Given the description of an element on the screen output the (x, y) to click on. 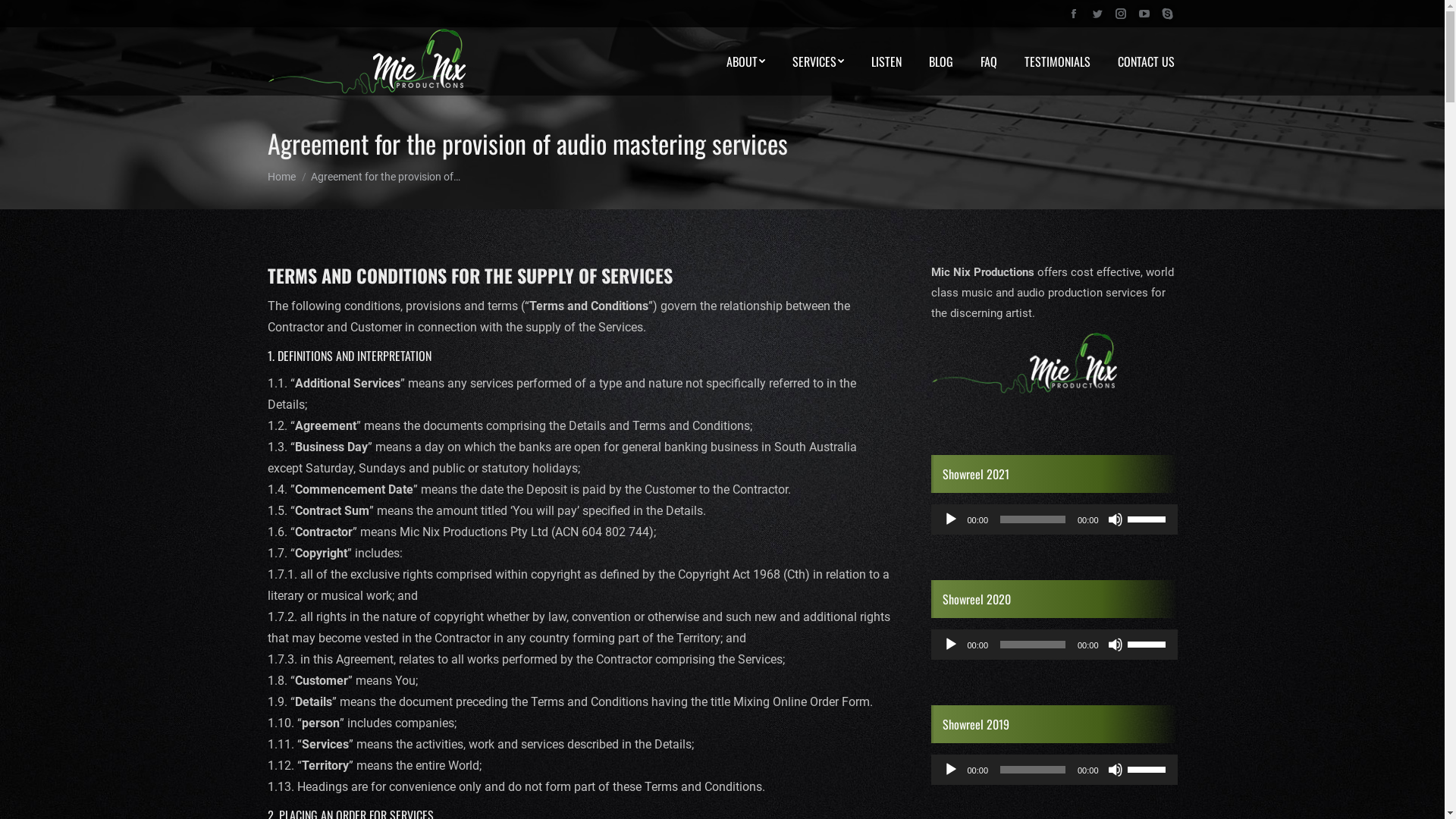
Facebook page opens in new window Element type: text (1072, 13)
YouTube page opens in new window Element type: text (1144, 13)
Mute Element type: hover (1114, 644)
Play Element type: hover (950, 769)
TESTIMONIALS Element type: text (1056, 60)
FAQ Element type: text (987, 60)
BLOG Element type: text (940, 60)
Skype page opens in new window Element type: text (1166, 13)
LISTEN Element type: text (885, 60)
SERVICES Element type: text (817, 60)
CONTACT US Element type: text (1145, 60)
Mute Element type: hover (1114, 519)
Instagram page opens in new window Element type: text (1119, 13)
Home Element type: text (280, 176)
Use Up/Down Arrow keys to increase or decrease volume. Element type: text (1147, 517)
Play Element type: hover (950, 644)
Twitter page opens in new window Element type: text (1097, 13)
Use Up/Down Arrow keys to increase or decrease volume. Element type: text (1147, 642)
ABOUT Element type: text (745, 60)
Mute Element type: hover (1114, 769)
Use Up/Down Arrow keys to increase or decrease volume. Element type: text (1147, 767)
Play Element type: hover (950, 519)
